Given the description of an element on the screen output the (x, y) to click on. 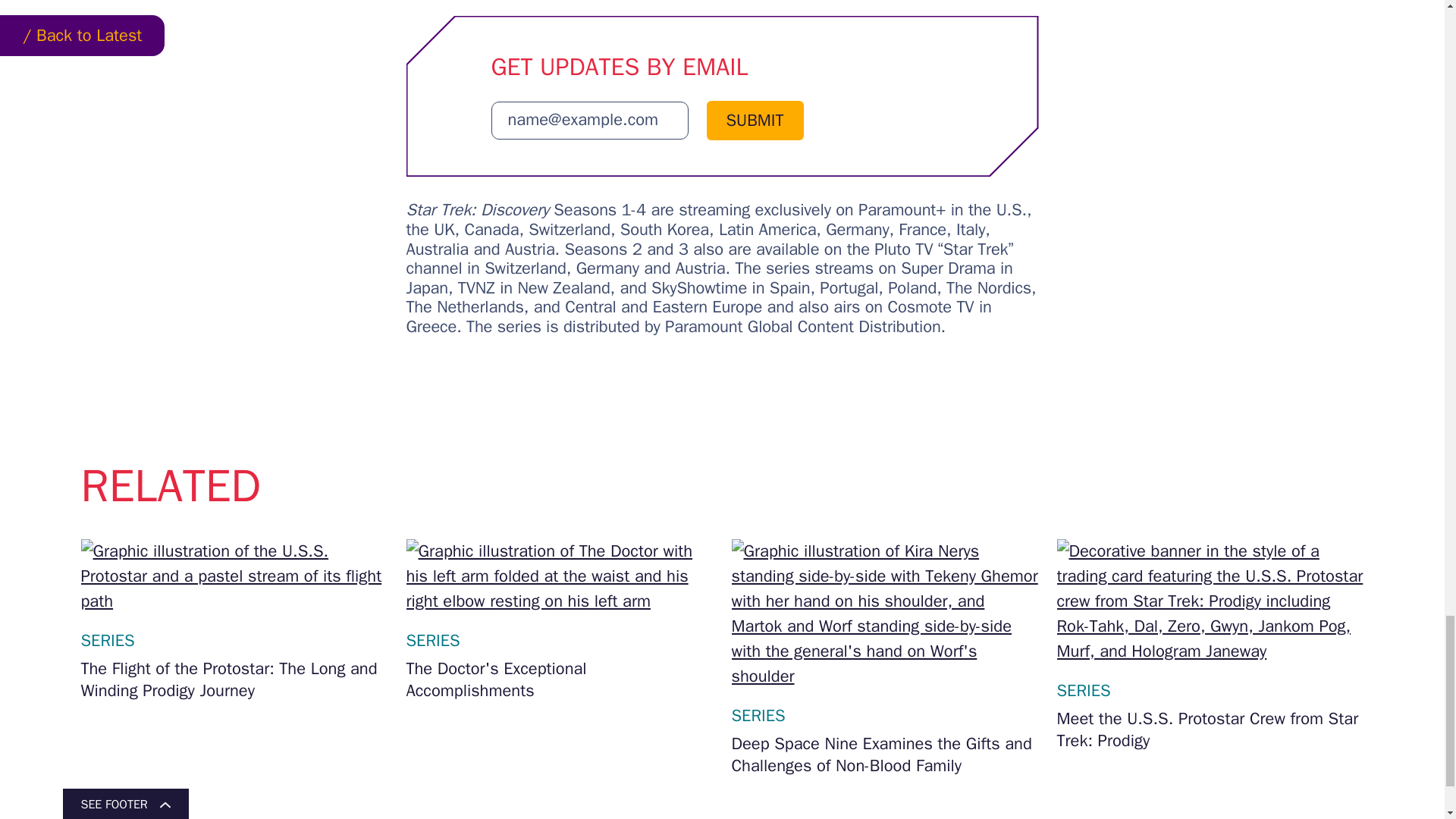
SUBMIT (754, 120)
The Doctor's Exceptional Accomplishments (559, 679)
SERIES (106, 640)
SERIES (433, 640)
